Given the description of an element on the screen output the (x, y) to click on. 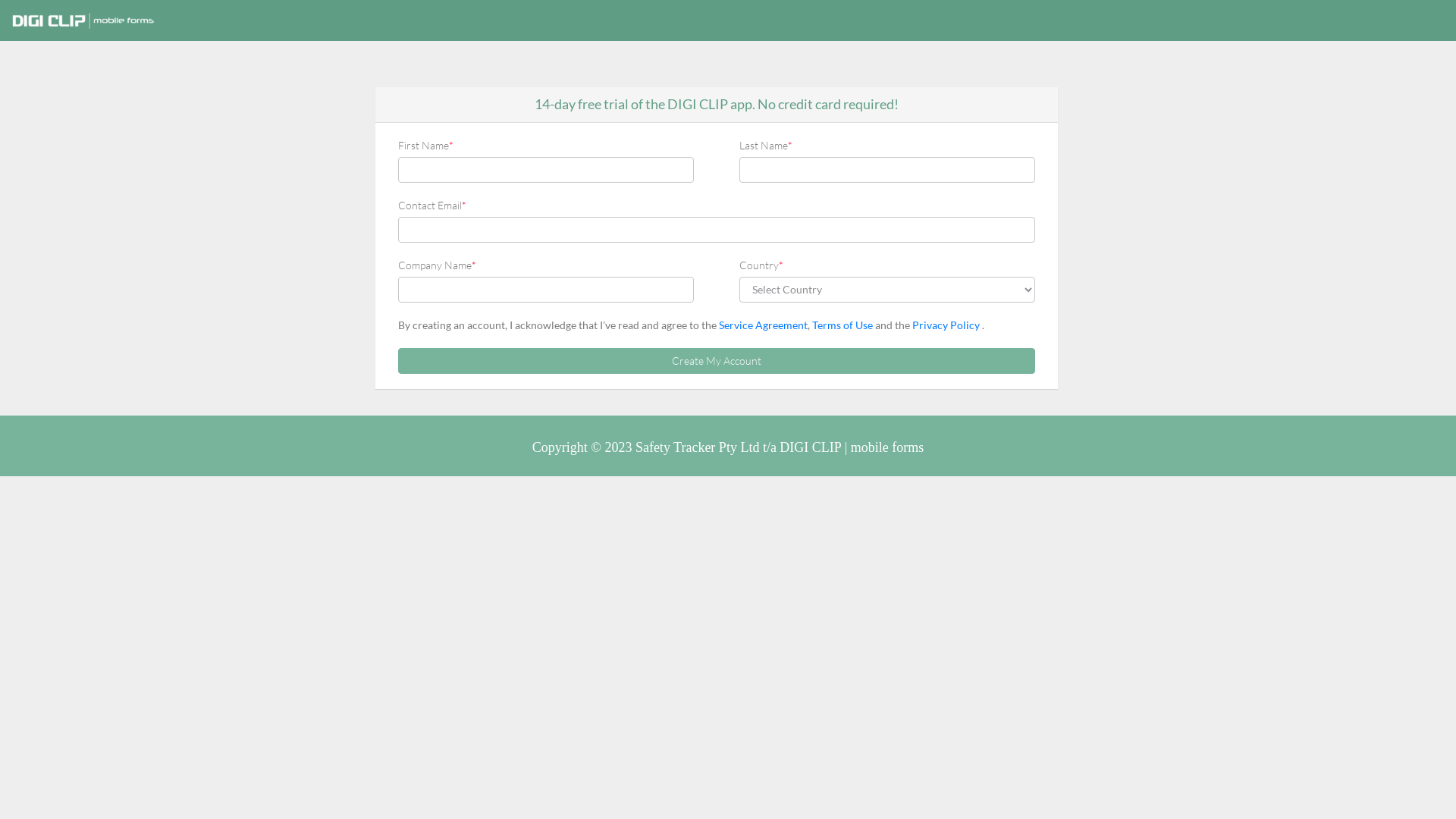
Privacy Policy Element type: text (947, 324)
Service Agreement Element type: text (762, 324)
Terms of Use Element type: text (842, 324)
Create My Account Element type: text (716, 360)
